Given the description of an element on the screen output the (x, y) to click on. 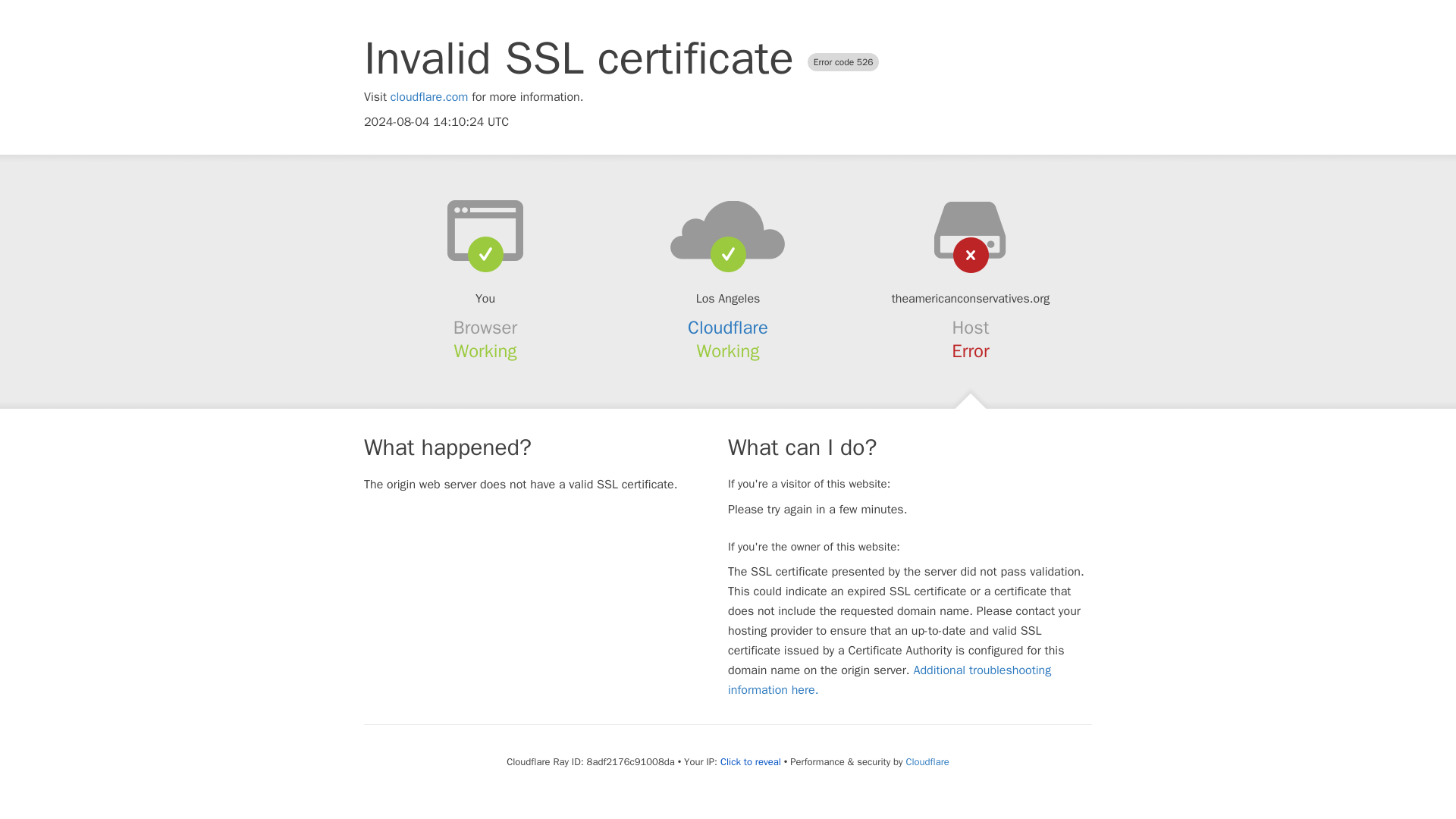
cloudflare.com (429, 96)
Cloudflare (927, 761)
Additional troubleshooting information here. (889, 679)
Click to reveal (750, 762)
Cloudflare (727, 327)
